Given the description of an element on the screen output the (x, y) to click on. 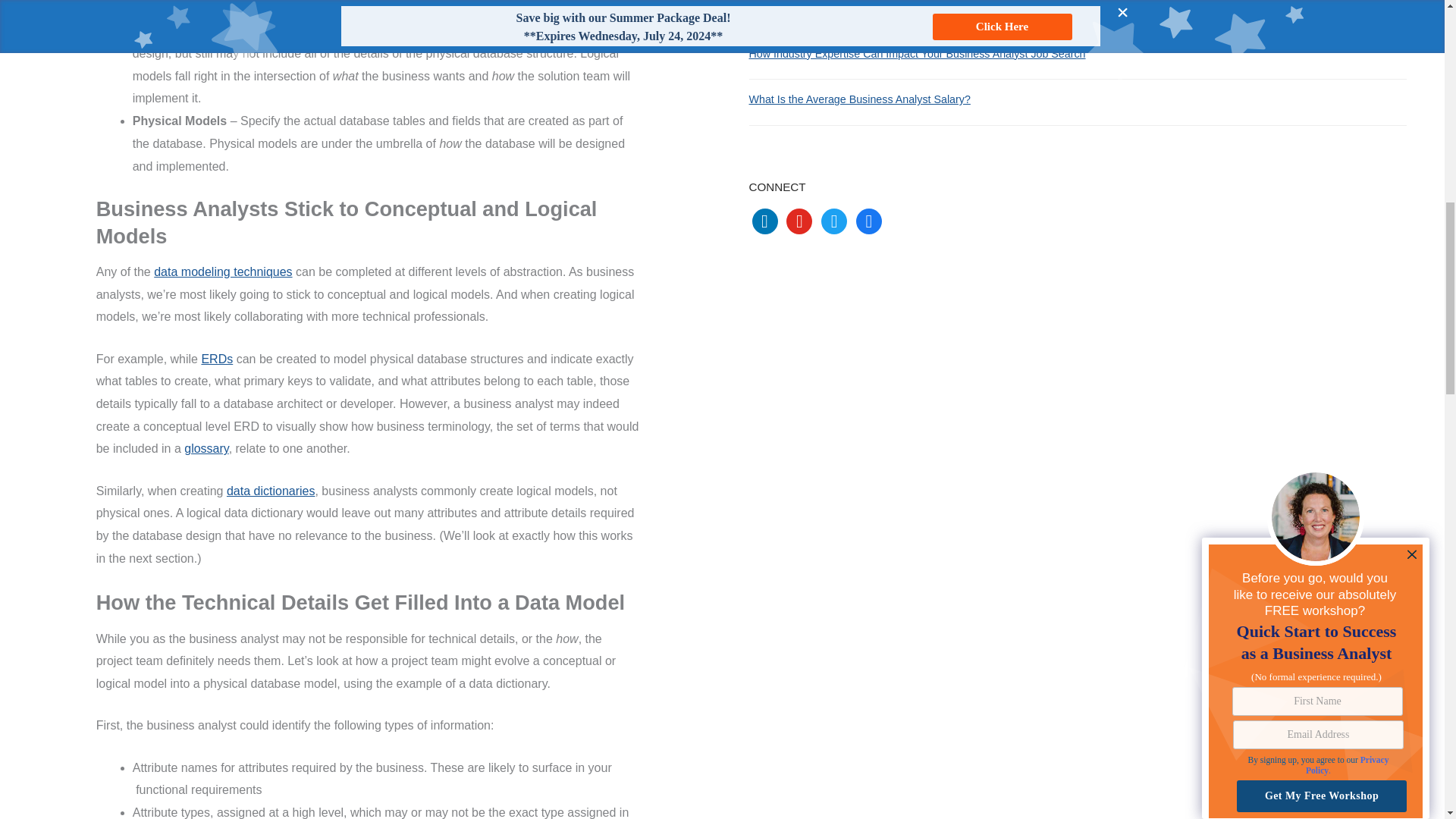
facebook (869, 220)
data dictionaries (271, 490)
Default Label (799, 220)
Twitter (834, 220)
youtube (799, 220)
glossary (206, 448)
twitter (834, 220)
data modeling techniques (223, 271)
linkedin (764, 220)
ERDs (216, 358)
Default Label (764, 220)
Default Label (869, 220)
What Is the Average Business Analyst Salary? (860, 99)
